Given the description of an element on the screen output the (x, y) to click on. 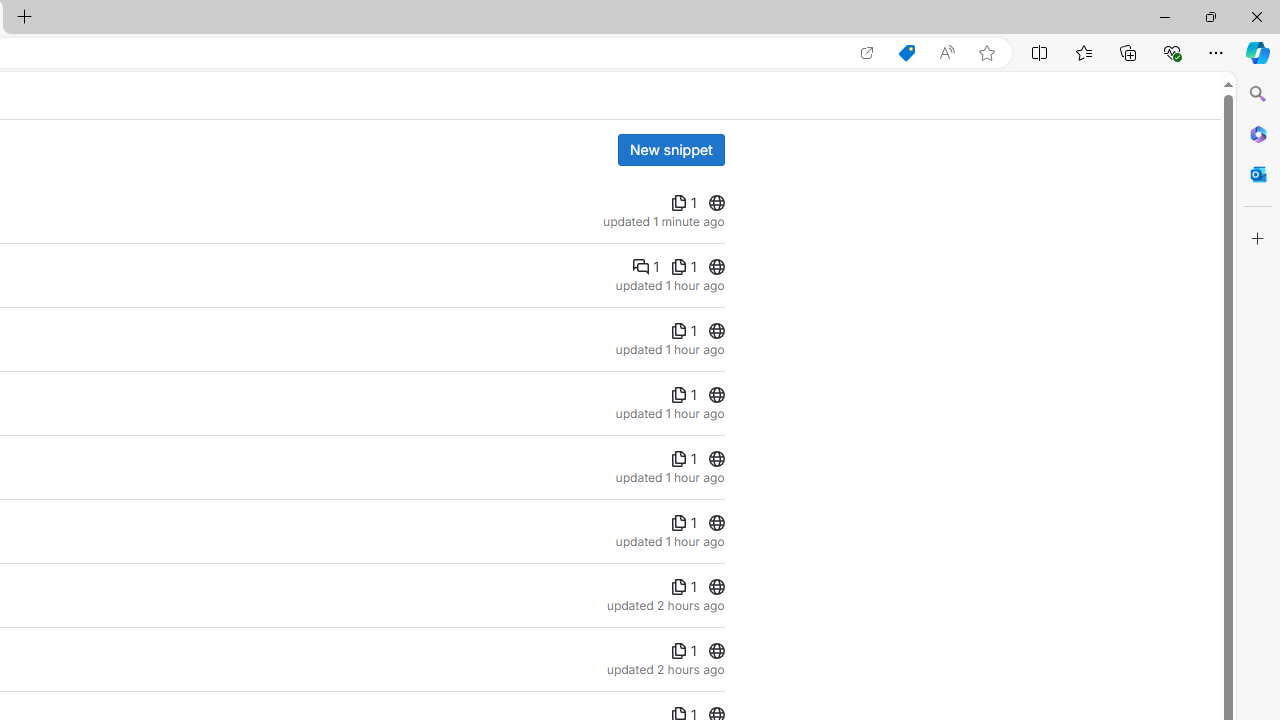
Class: s16 (715, 651)
